Given the description of an element on the screen output the (x, y) to click on. 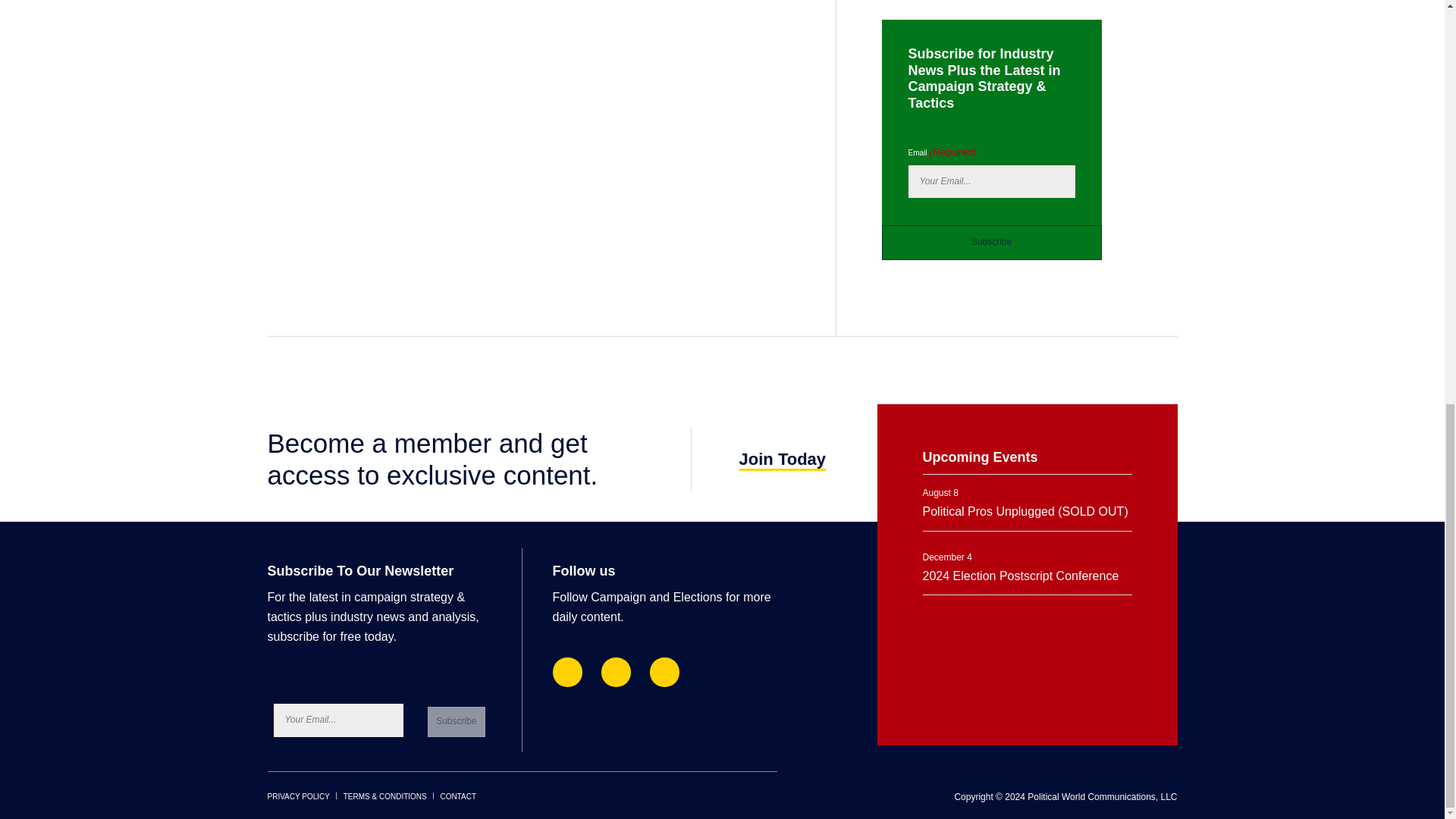
Facebook (566, 672)
Subscribe (990, 242)
Twitter (663, 672)
LinkedIn (615, 672)
Subscribe (456, 721)
